Given the description of an element on the screen output the (x, y) to click on. 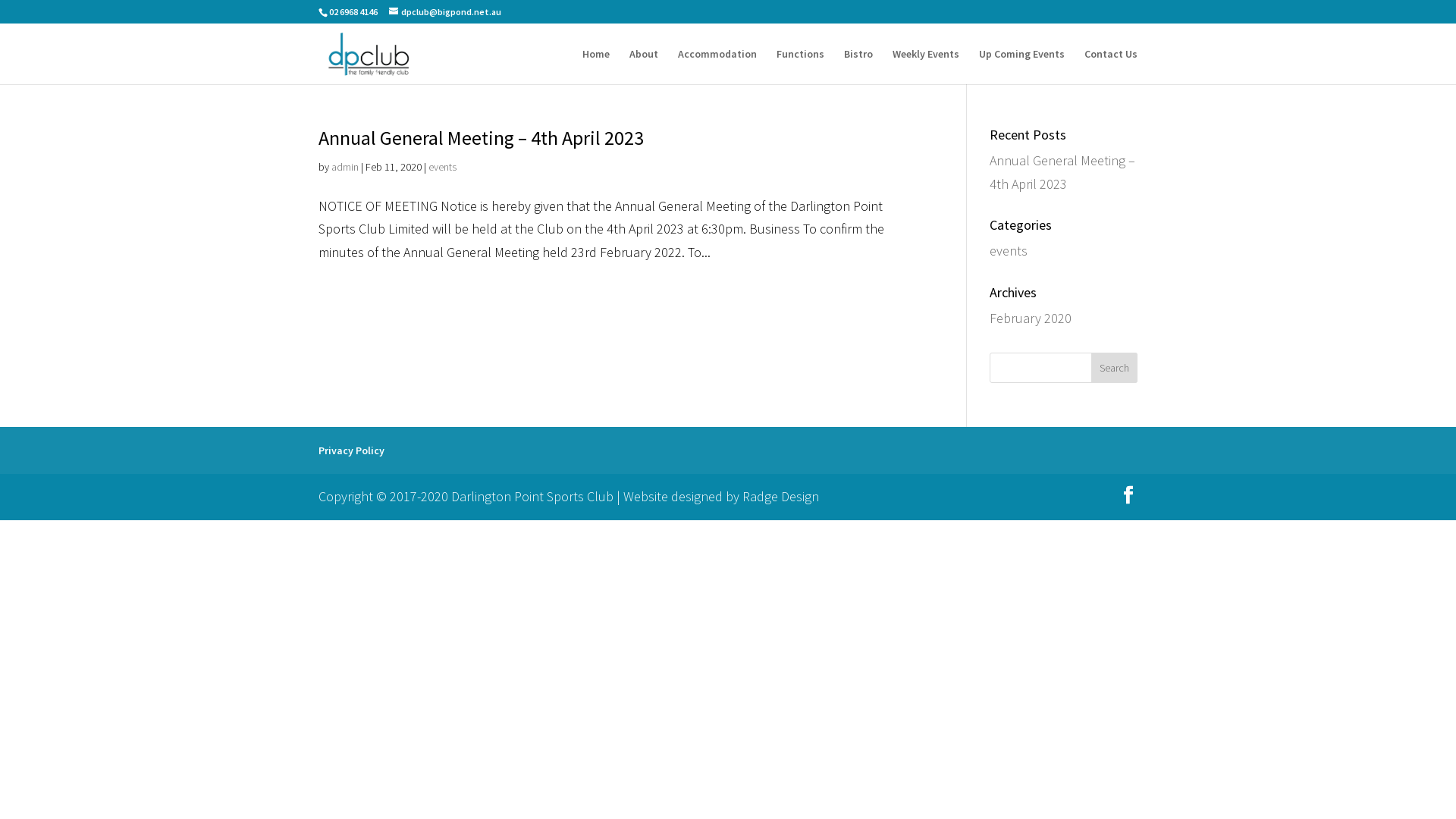
Bistro Element type: text (858, 66)
Functions Element type: text (800, 66)
About Element type: text (643, 66)
Home Element type: text (595, 66)
Weekly Events Element type: text (925, 66)
February 2020 Element type: text (1030, 317)
Accommodation Element type: text (716, 66)
Up Coming Events Element type: text (1021, 66)
events Element type: text (442, 166)
events Element type: text (1008, 250)
admin Element type: text (344, 166)
Contact Us Element type: text (1110, 66)
Privacy Policy Element type: text (351, 450)
dpclub@bigpond.net.au Element type: text (445, 11)
Search Element type: text (1114, 367)
